Given the description of an element on the screen output the (x, y) to click on. 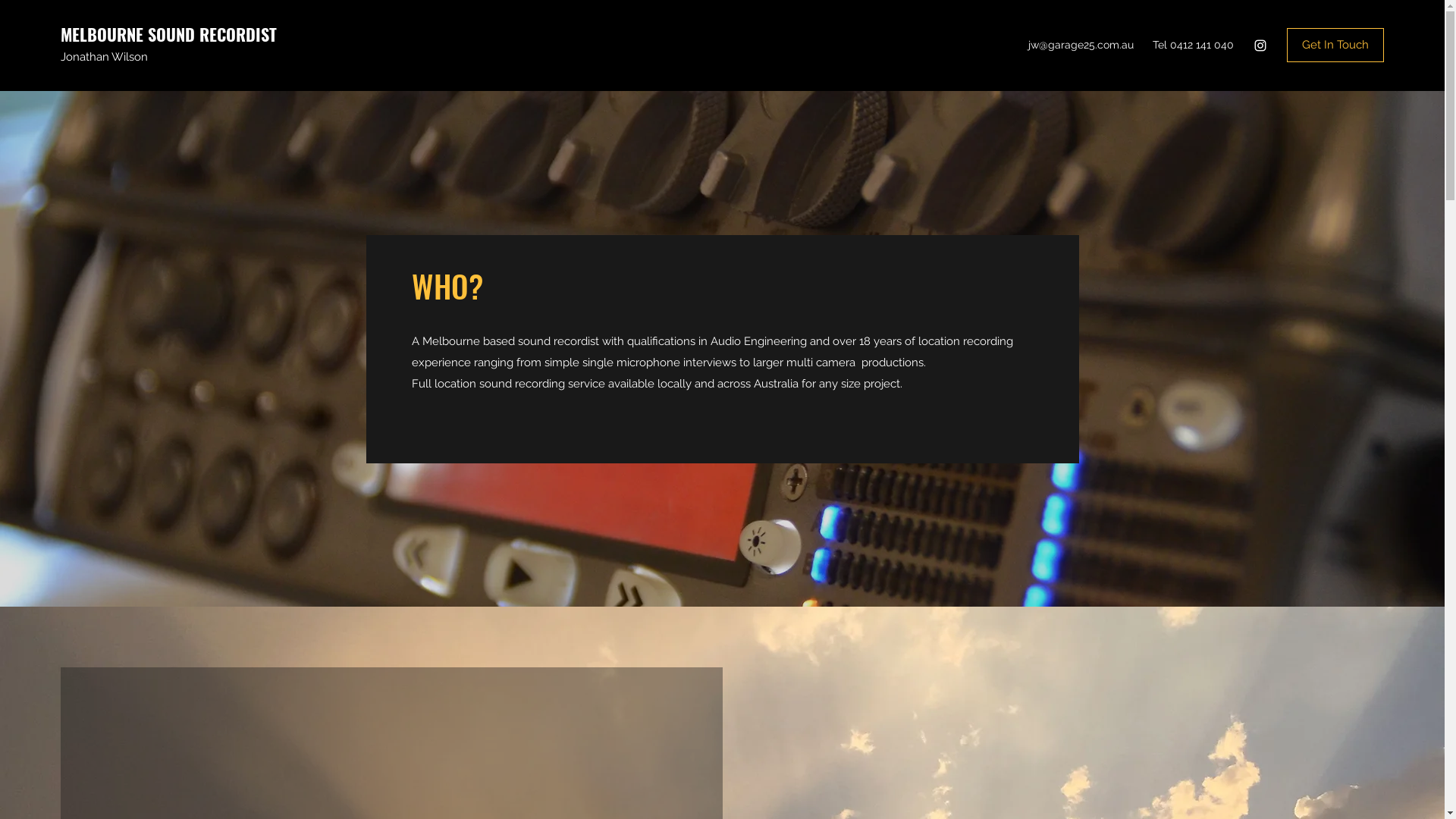
Get In Touch Element type: text (1334, 45)
jw@garage25.com.au Element type: text (1080, 44)
